Given the description of an element on the screen output the (x, y) to click on. 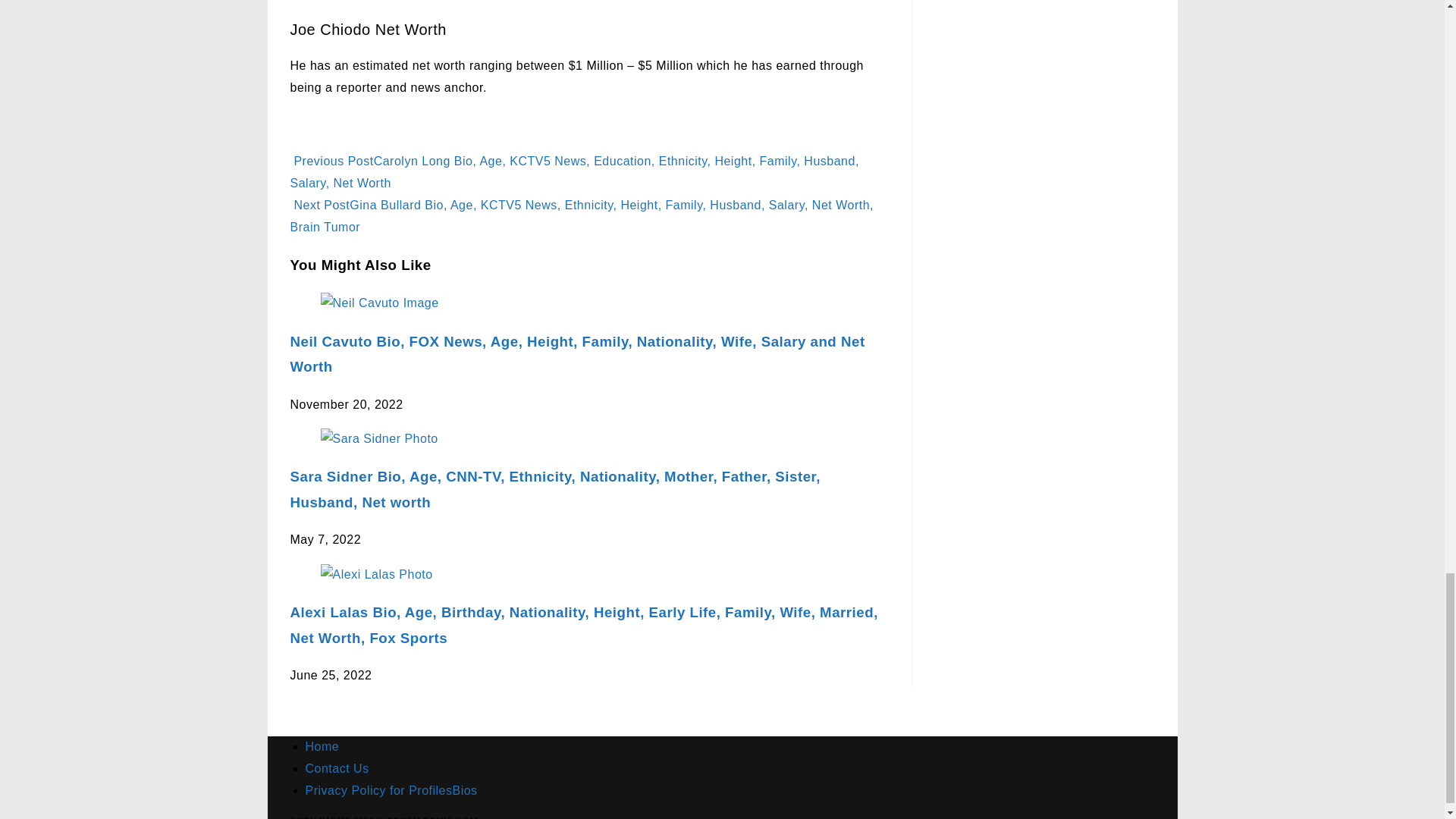
Home (321, 746)
Contact Us (336, 768)
Privacy Policy for ProfilesBios (390, 789)
